Given the description of an element on the screen output the (x, y) to click on. 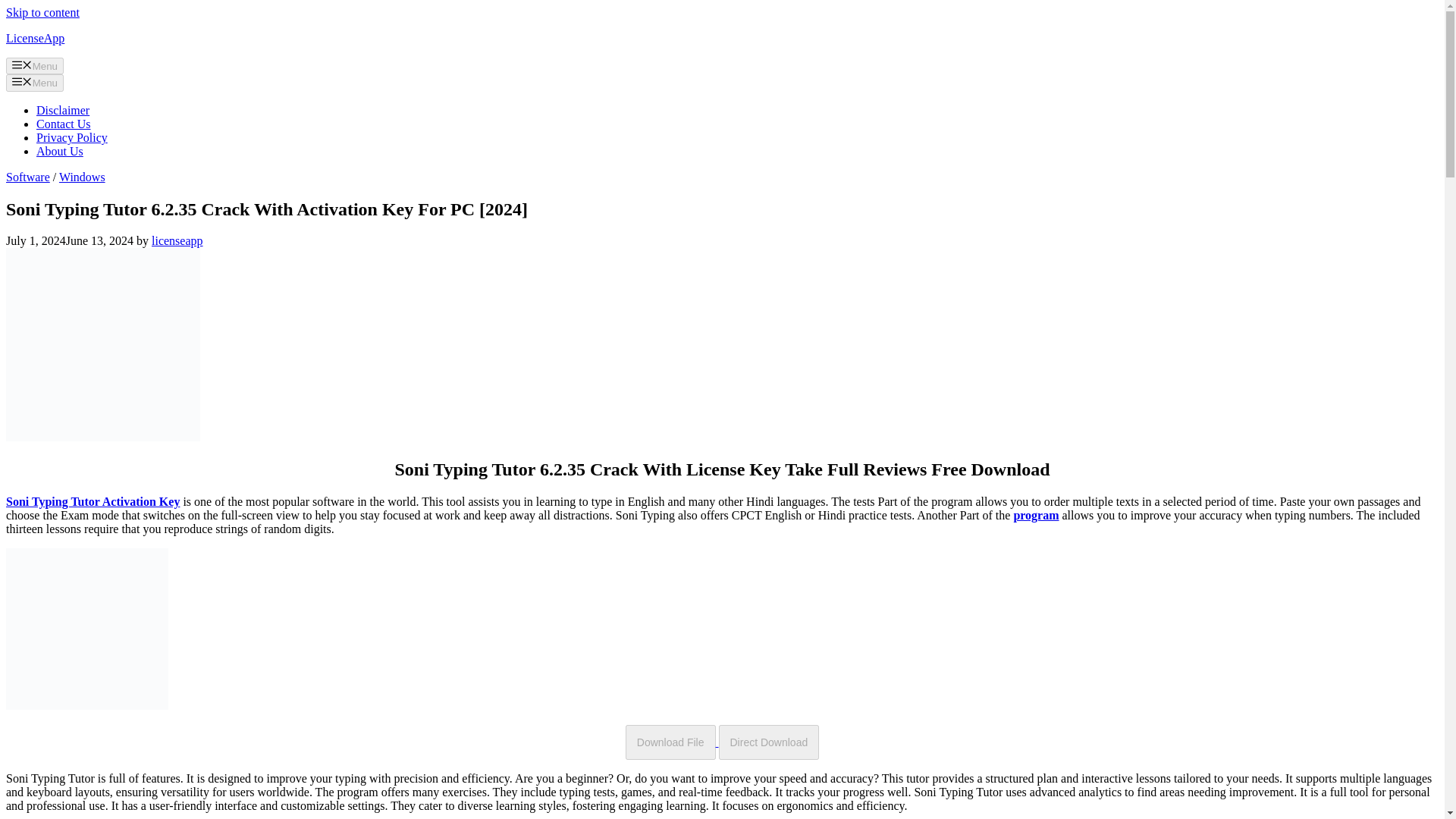
Software (27, 176)
Download File (671, 742)
Soni Typing Tutor Activation Key (92, 501)
Download File Direct Download (722, 741)
LicenseApp (34, 38)
program (1035, 514)
Windows (81, 176)
Privacy Policy (71, 137)
Menu (34, 82)
Menu (34, 65)
About Us (59, 151)
Skip to content (42, 11)
Skip to content (42, 11)
Disclaimer (62, 110)
licenseapp (177, 240)
